Given the description of an element on the screen output the (x, y) to click on. 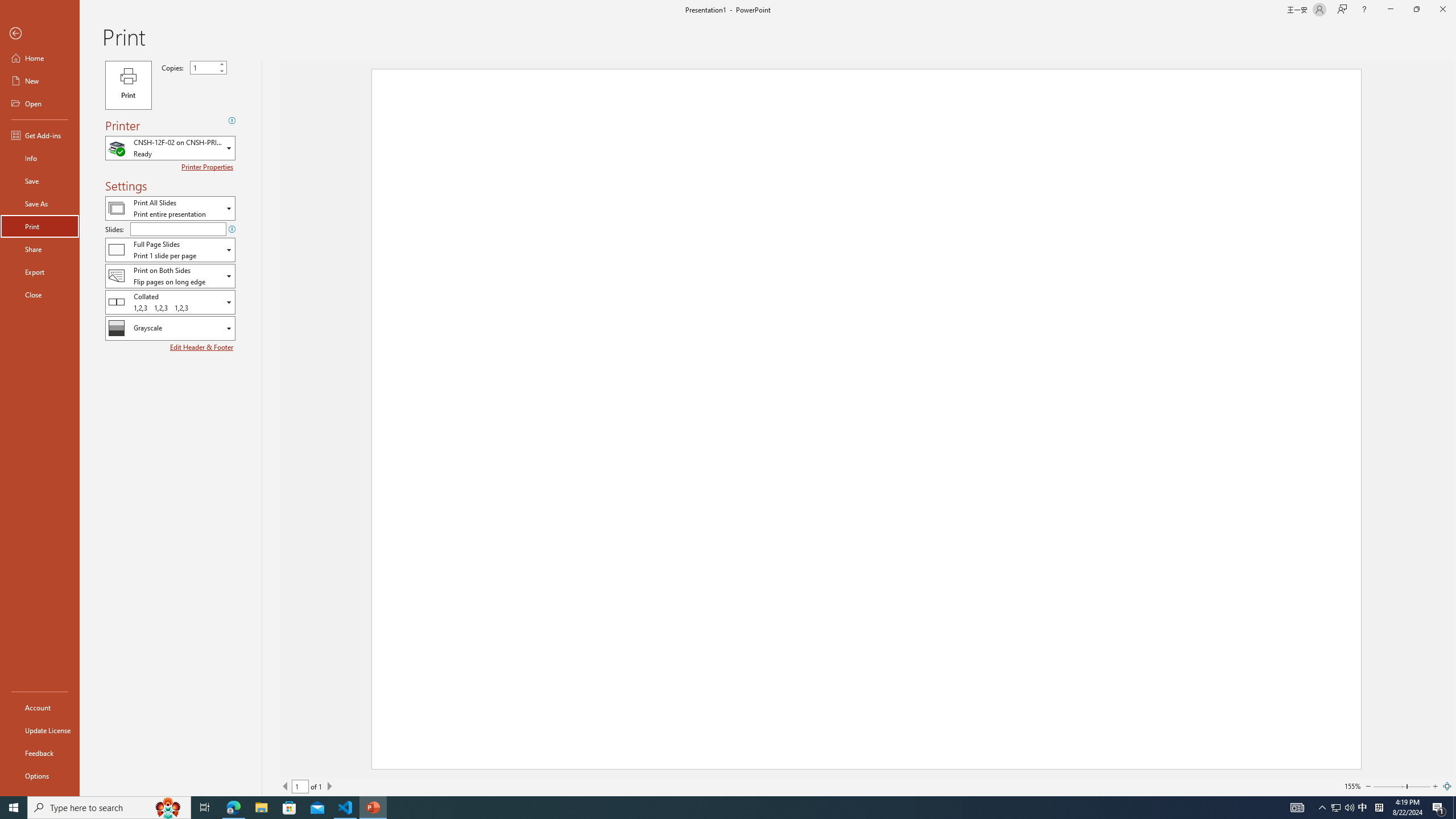
Print (127, 84)
Less (220, 70)
Two-Sided Printing (169, 275)
Previous Page (285, 786)
